Given the description of an element on the screen output the (x, y) to click on. 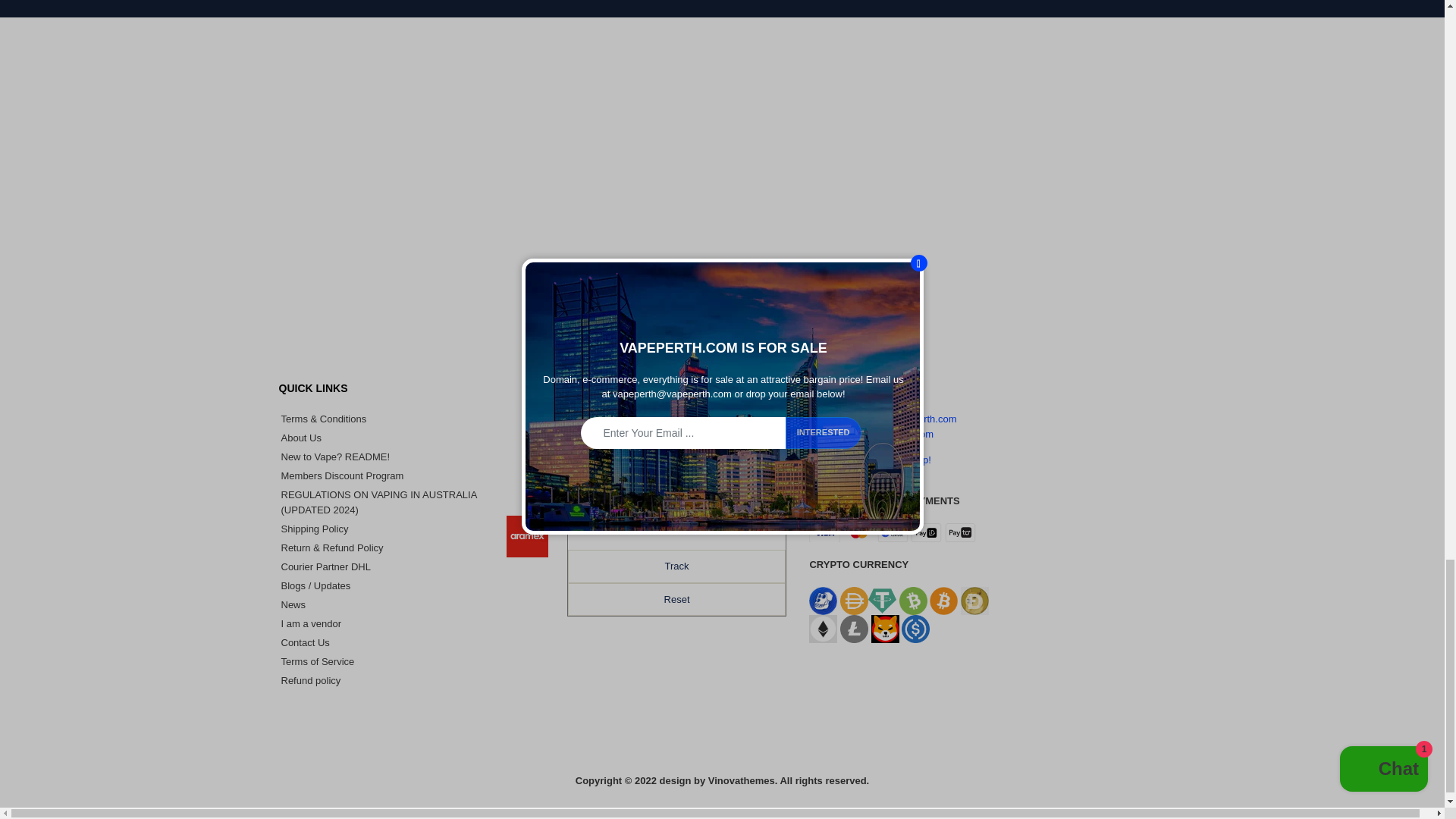
Reset (676, 599)
Track (676, 566)
